Given the description of an element on the screen output the (x, y) to click on. 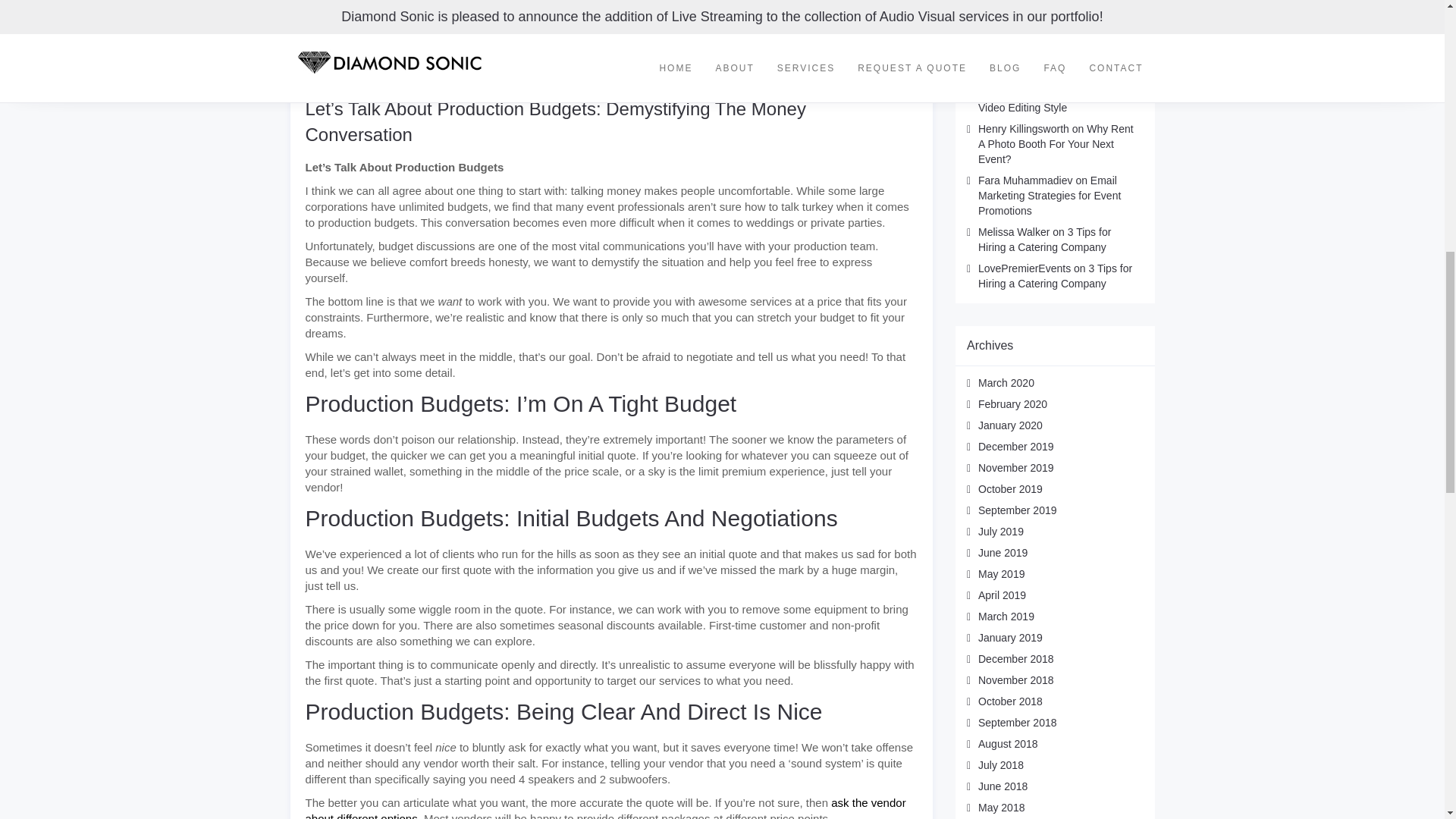
April 2019 (1002, 594)
Event Videography: How To Choose A Video Editing Style (1052, 92)
January 2020 (1010, 425)
Why Rent A Photo Booth For Your Next Event? (1056, 143)
Email Marketing Strategies for Event Promotions (1049, 195)
Manoj Nath (1005, 77)
July 2019 (1000, 531)
November 2019 (1016, 467)
Henry Killingsworth (1023, 128)
December 2019 (1016, 446)
3 Tips for Hiring a Catering Company (1044, 239)
February 2020 (1012, 404)
3 Tips for Hiring a Catering Company (1055, 275)
LovePremierEvents (1024, 268)
October 2019 (1010, 489)
